Given the description of an element on the screen output the (x, y) to click on. 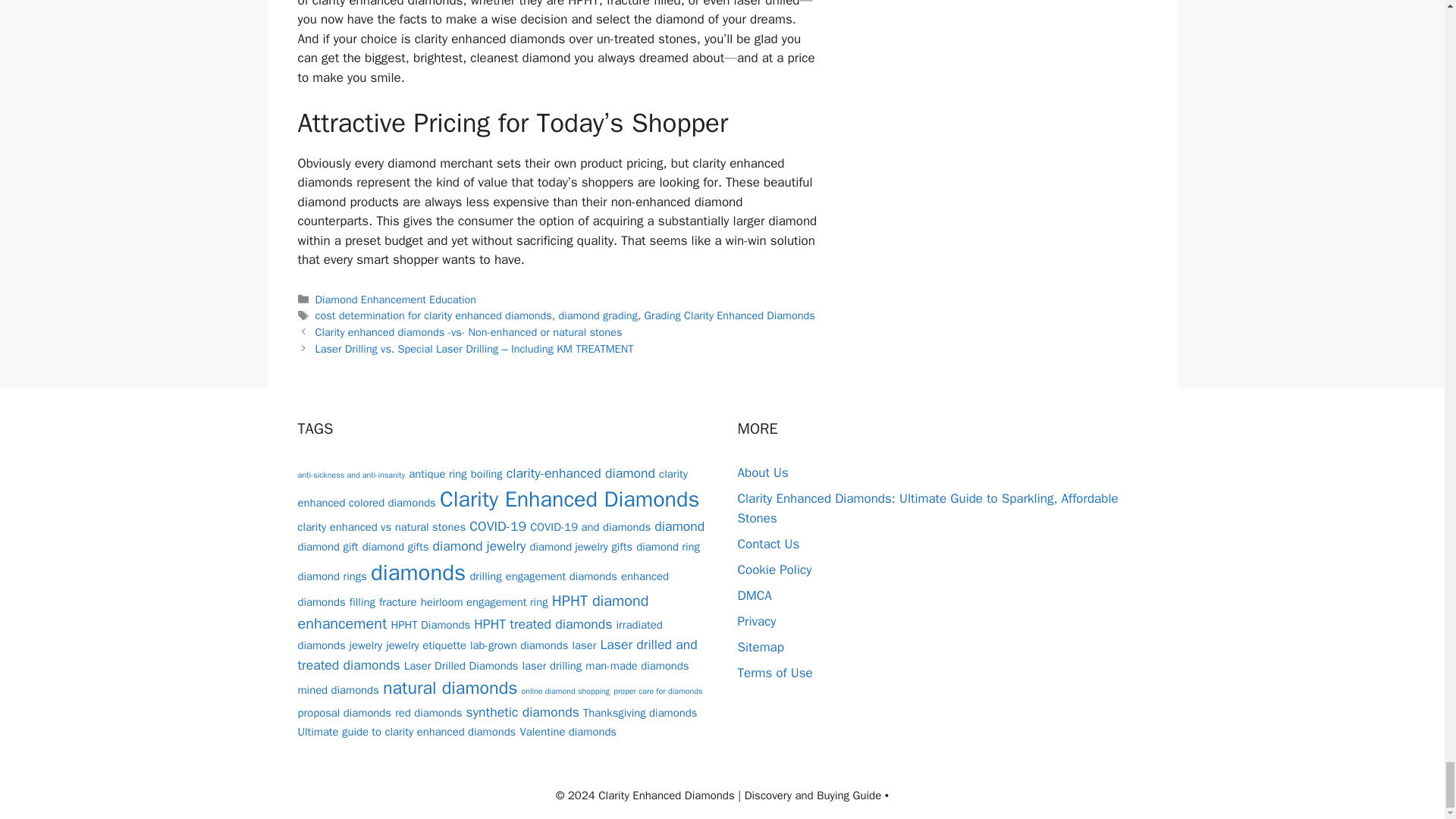
cost determination for clarity enhanced diamonds (433, 315)
Grading Clarity Enhanced Diamonds (730, 315)
Diamond Enhancement Education (396, 299)
diamond grading (597, 315)
